Given the description of an element on the screen output the (x, y) to click on. 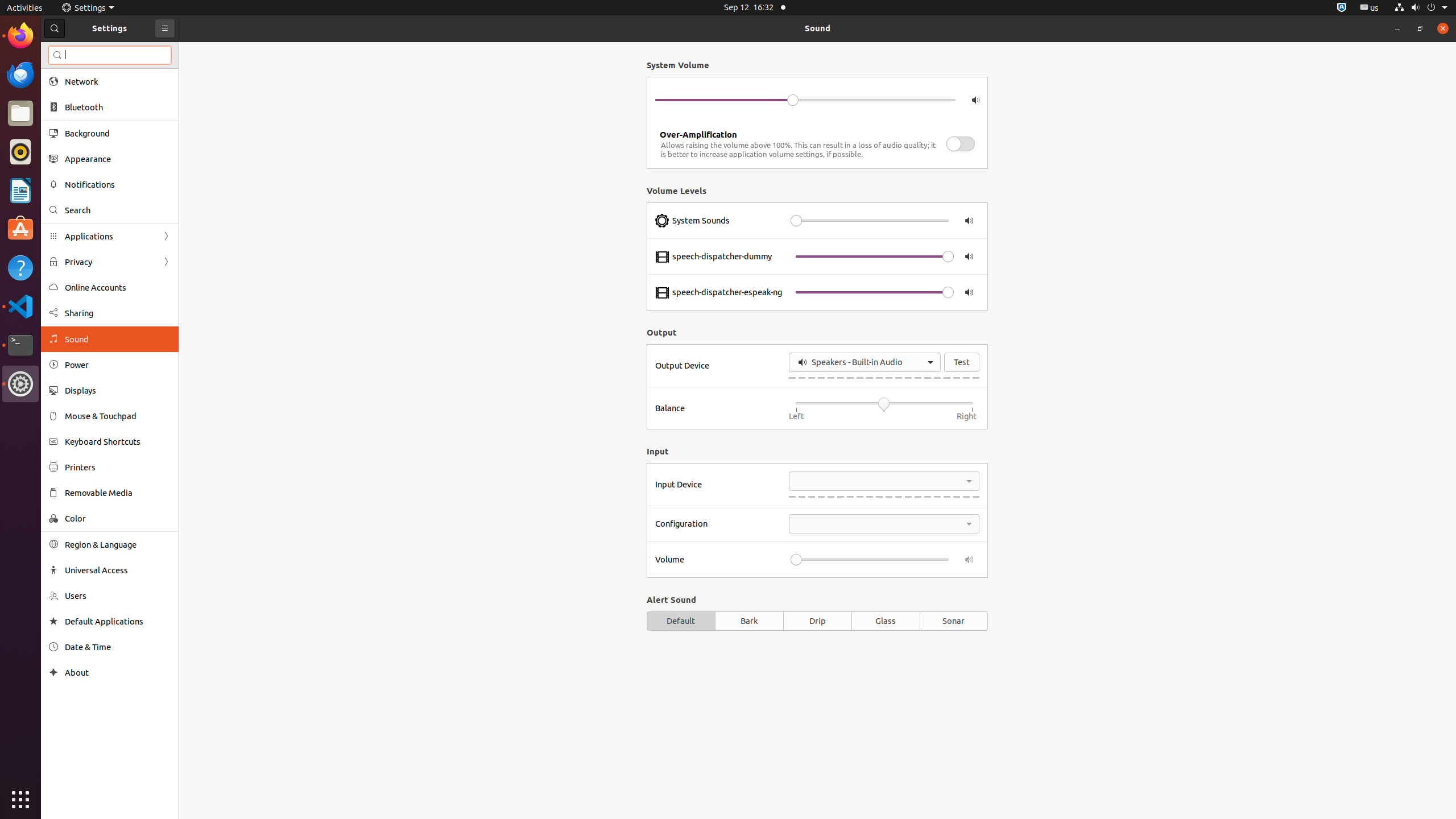
System Volume Element type: label (816, 64)
Sharing Element type: label (117, 312)
Alert Sound Element type: label (816, 599)
Test Element type: push-button (961, 361)
